Given the description of an element on the screen output the (x, y) to click on. 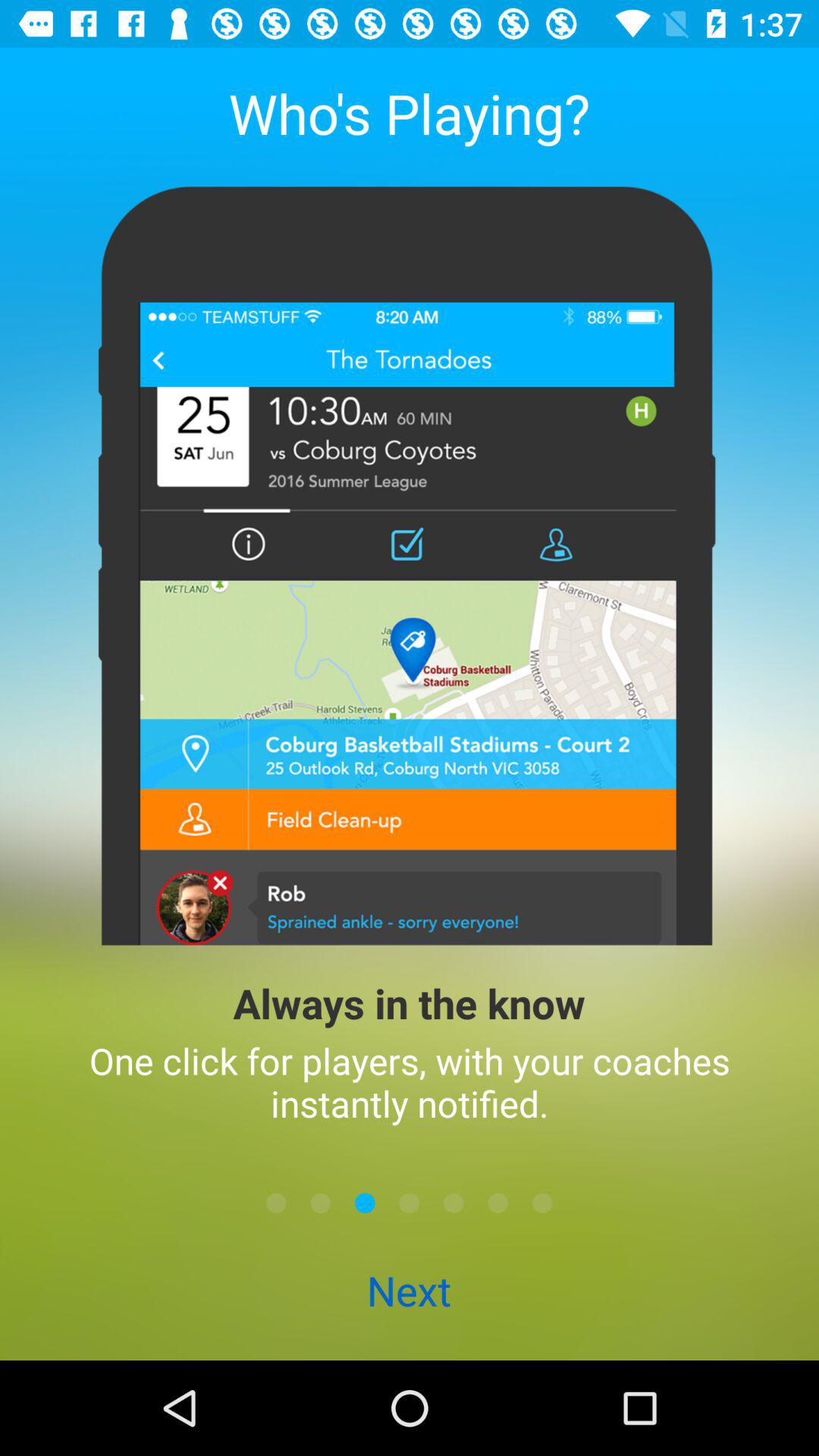
launch item below one click for icon (364, 1203)
